Given the description of an element on the screen output the (x, y) to click on. 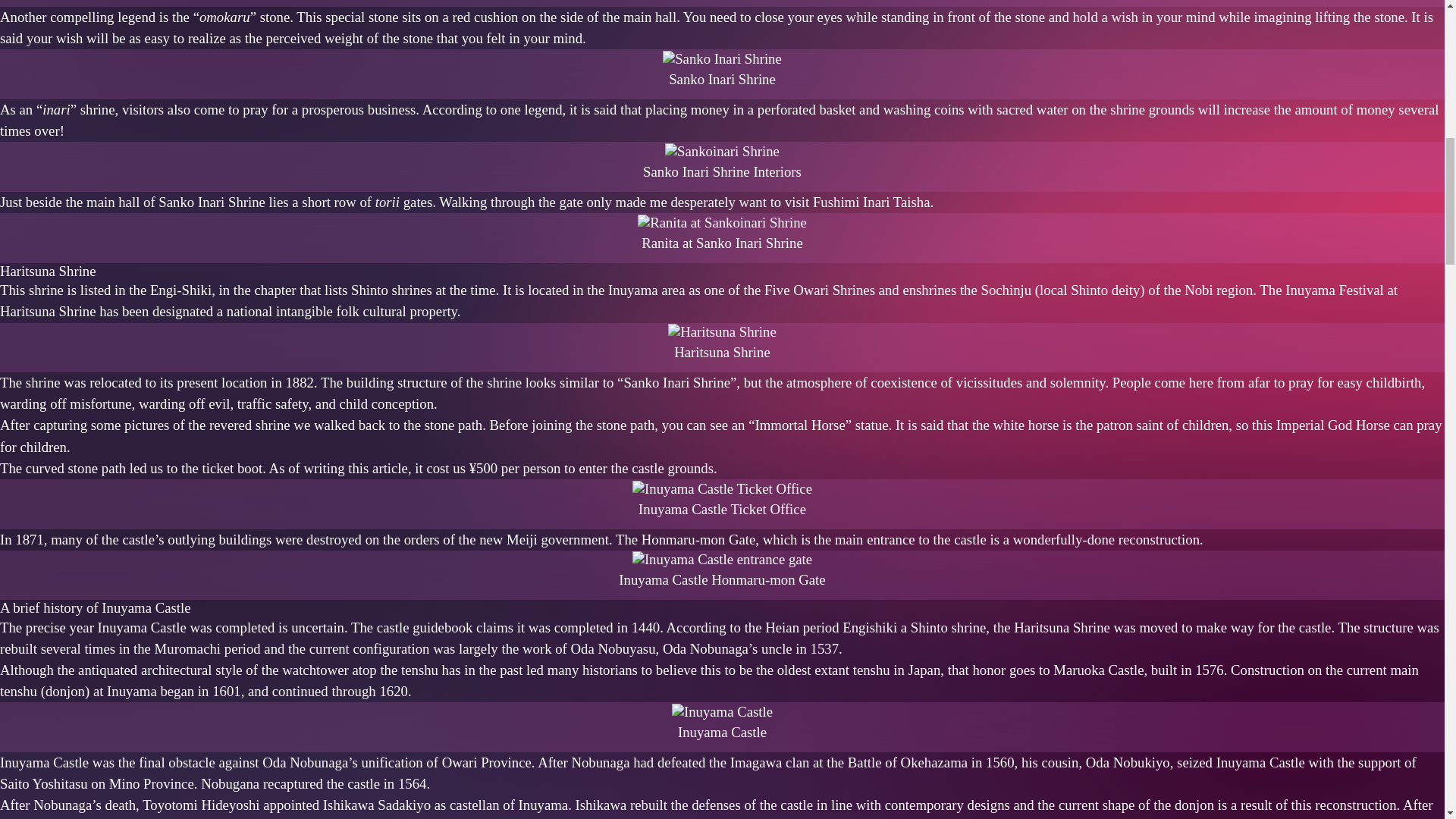
Sanko Inari Shrine (721, 58)
Ranita at Sanko Inari Shrine (721, 220)
Sanko Inari Shrine Interiors (721, 149)
Sanko Inari Shrine (721, 57)
Sankoinari Shrine (721, 151)
Fushimi Inari Taisha (871, 201)
